Given the description of an element on the screen output the (x, y) to click on. 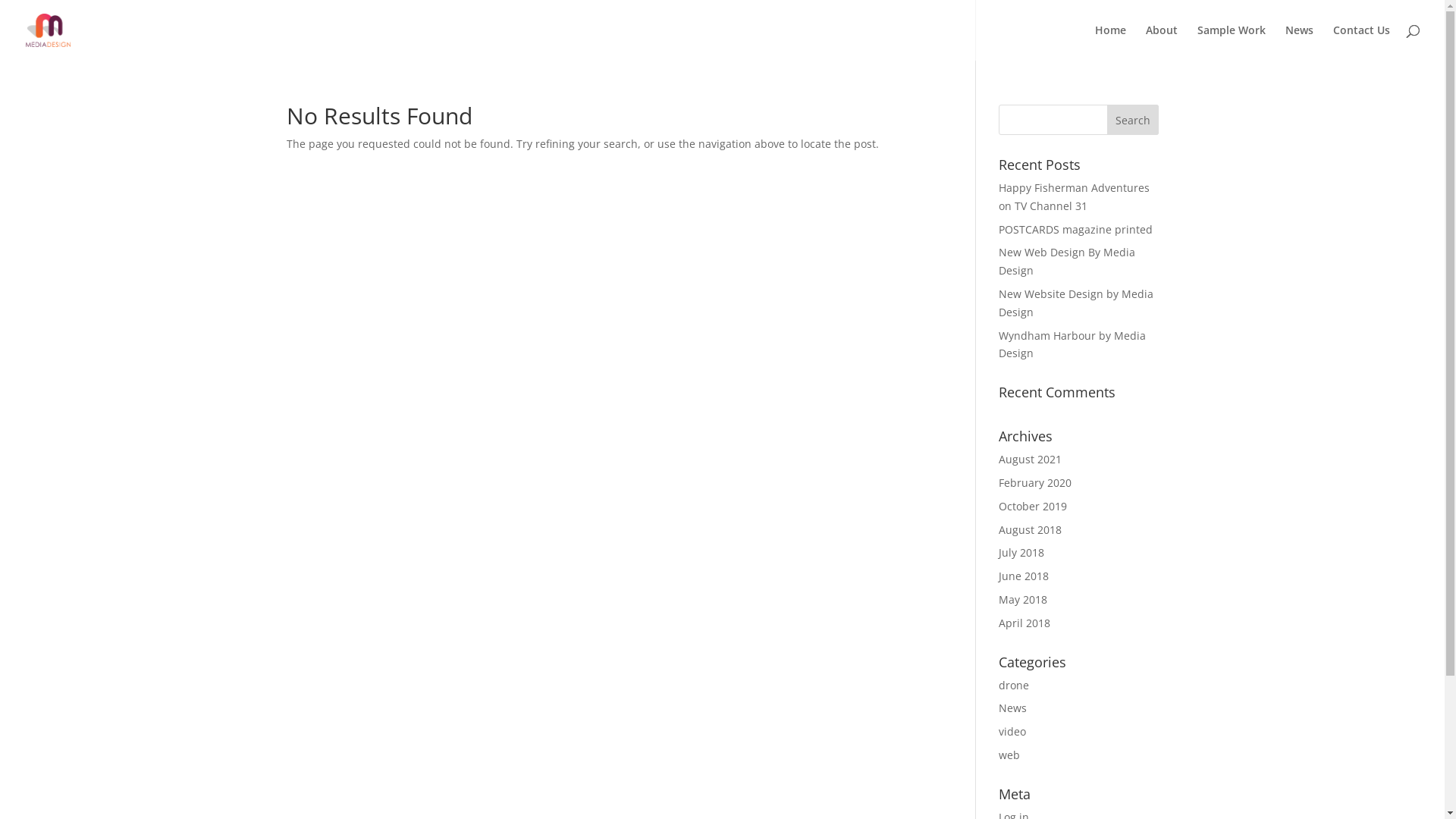
Home Element type: text (1110, 42)
October 2019 Element type: text (1032, 505)
August 2018 Element type: text (1029, 529)
New Web Design By Media Design Element type: text (1066, 260)
video Element type: text (1012, 731)
News Element type: text (1299, 42)
Sample Work Element type: text (1231, 42)
News Element type: text (1012, 707)
Contact Us Element type: text (1361, 42)
drone Element type: text (1013, 684)
April 2018 Element type: text (1024, 622)
May 2018 Element type: text (1022, 599)
June 2018 Element type: text (1023, 575)
Wyndham Harbour by Media Design Element type: text (1071, 344)
About Element type: text (1161, 42)
POSTCARDS magazine printed Element type: text (1075, 229)
New Website Design by Media Design Element type: text (1075, 302)
web Element type: text (1008, 754)
Happy Fisherman Adventures on TV Channel 31 Element type: text (1073, 196)
August 2021 Element type: text (1029, 458)
Search Element type: text (1132, 119)
February 2020 Element type: text (1034, 482)
July 2018 Element type: text (1021, 552)
